Given the description of an element on the screen output the (x, y) to click on. 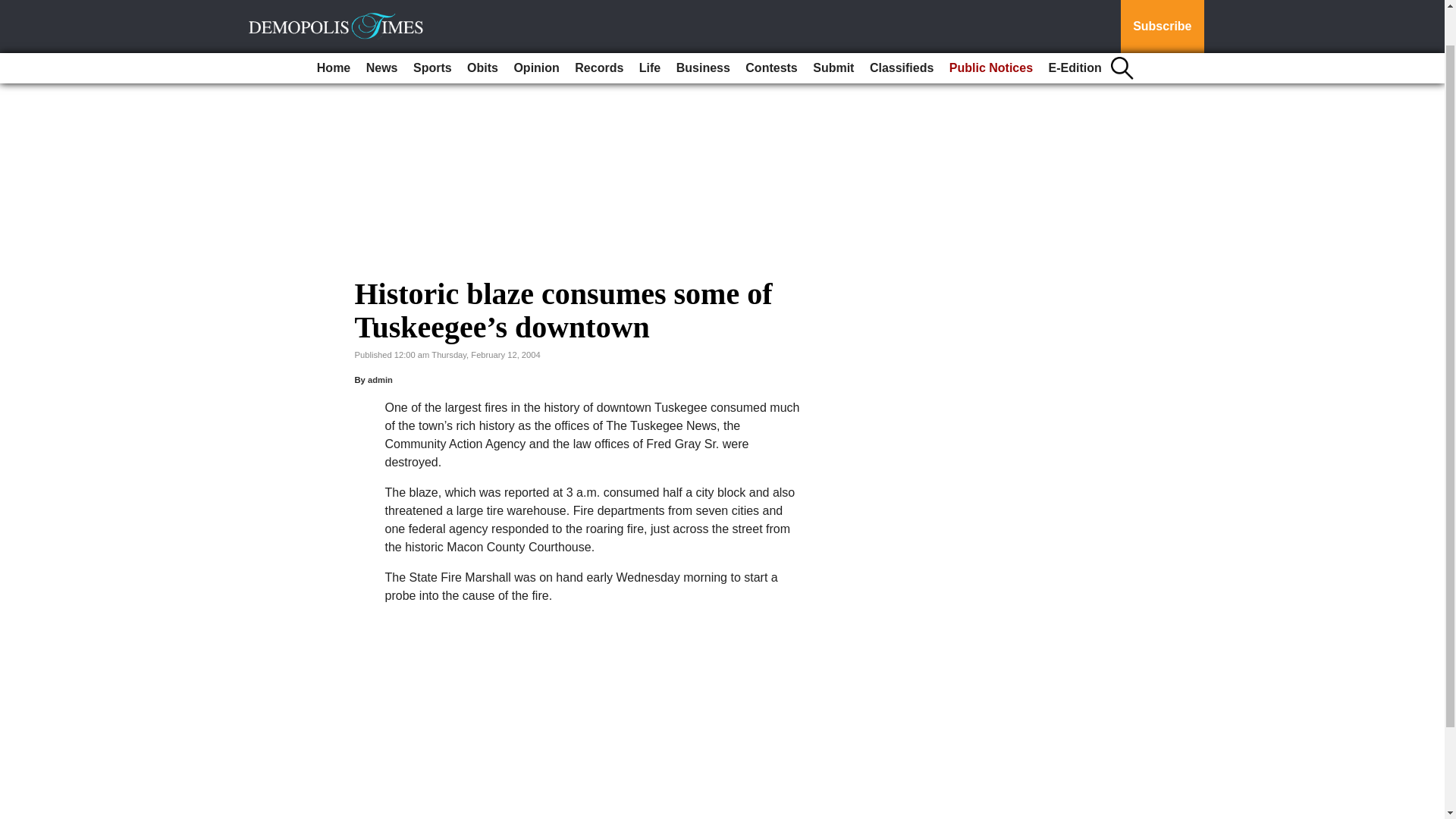
E-Edition (1075, 26)
Opinion (535, 26)
Contests (771, 26)
Business (702, 26)
Life (649, 26)
Obits (482, 26)
Classifieds (901, 26)
admin (380, 379)
Submit (833, 26)
Subscribe (1162, 5)
